Given the description of an element on the screen output the (x, y) to click on. 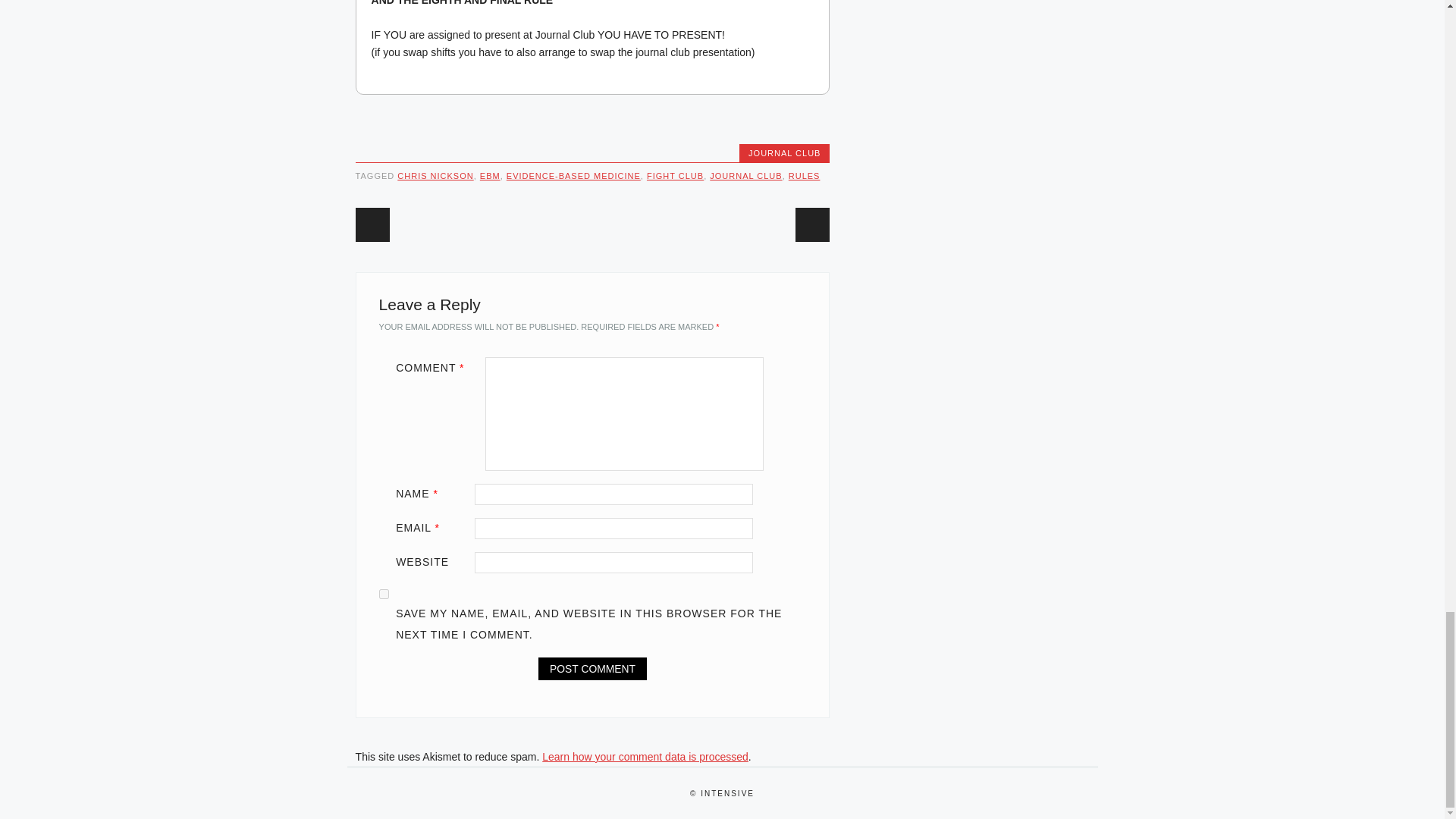
JOURNAL CLUB (745, 175)
FIGHT CLUB (674, 175)
Post Comment (592, 668)
JOURNAL CLUB (784, 153)
Learn how your comment data is processed (644, 756)
Post Comment (592, 668)
EBM (490, 175)
CHRIS NICKSON (435, 175)
RULES (805, 175)
yes (383, 593)
